Given the description of an element on the screen output the (x, y) to click on. 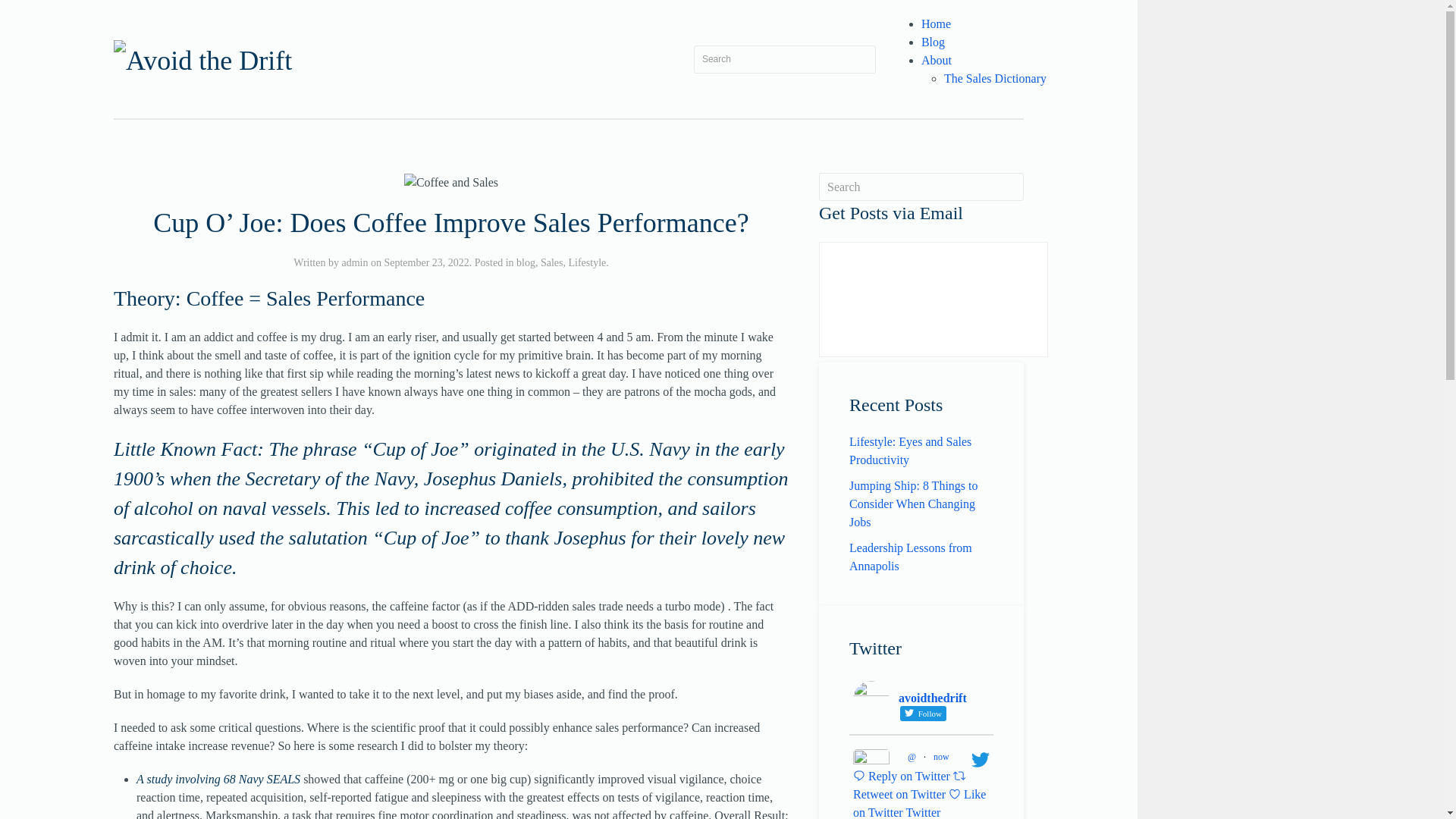
Lifestyle: Eyes and Sales Productivity (909, 450)
blog (525, 262)
Jumping Ship: 8 Things to Consider When Changing Jobs (913, 503)
Home (935, 23)
Lifestyle (588, 262)
Blog (932, 42)
avoidthedrift Follow (921, 701)
About (936, 60)
Leadership Lessons from Annapolis (910, 556)
Sales (551, 262)
admin (354, 262)
The Sales Dictionary (994, 78)
